Given the description of an element on the screen output the (x, y) to click on. 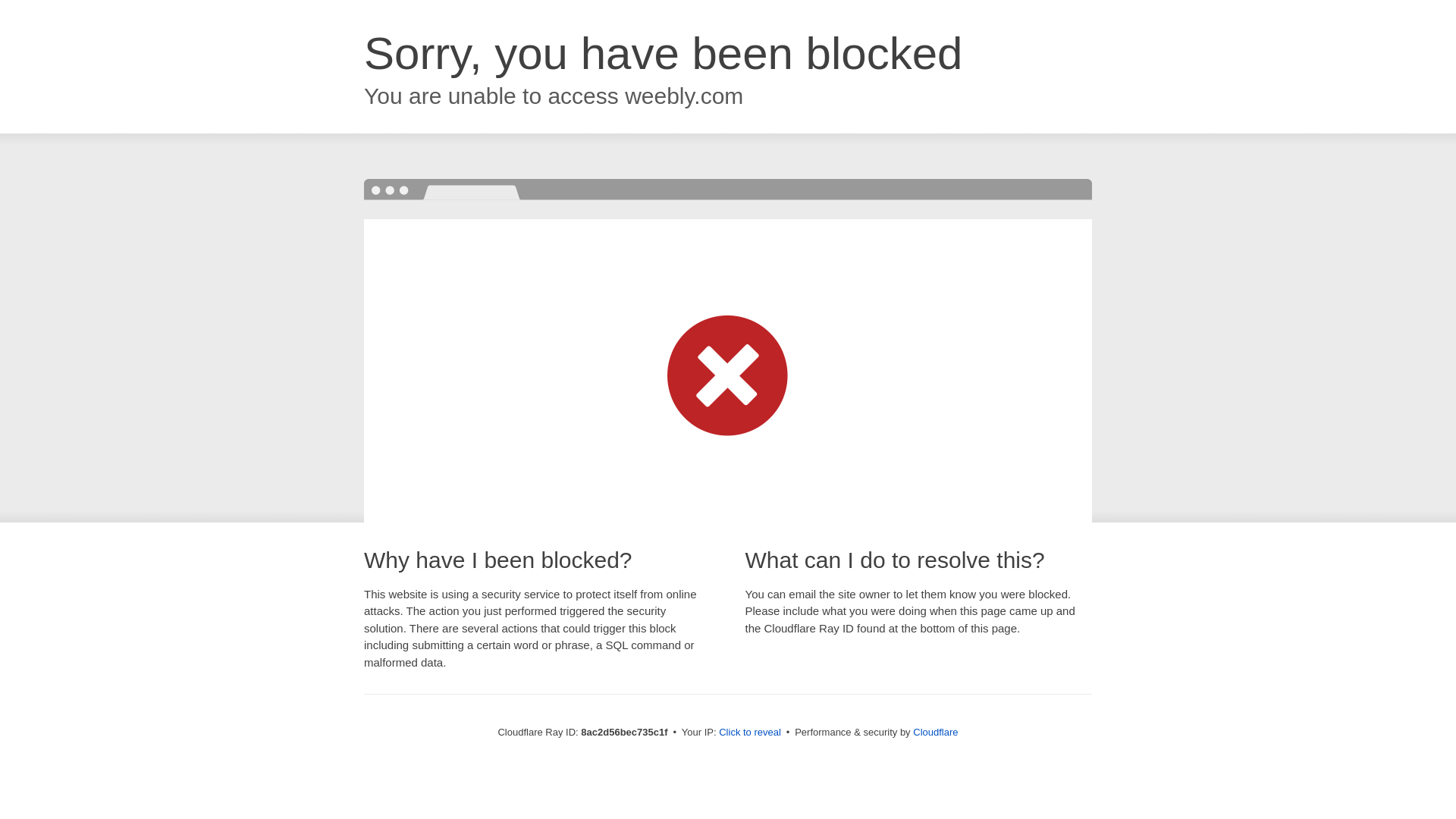
Cloudflare (935, 731)
Click to reveal (749, 732)
